Given the description of an element on the screen output the (x, y) to click on. 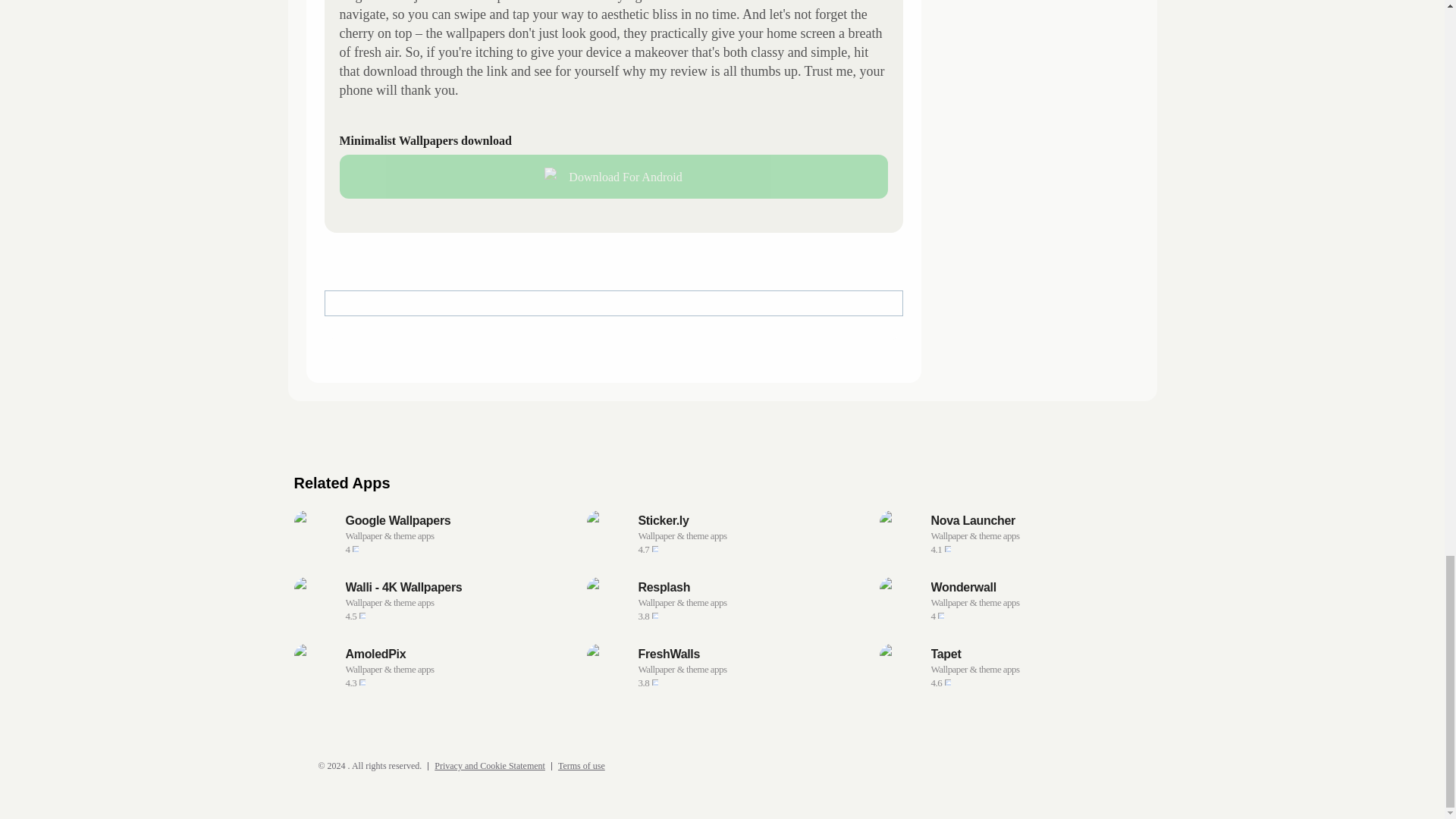
Privacy and Cookie Statement (489, 766)
Terms of use (581, 766)
Download For Android (613, 176)
